Given the description of an element on the screen output the (x, y) to click on. 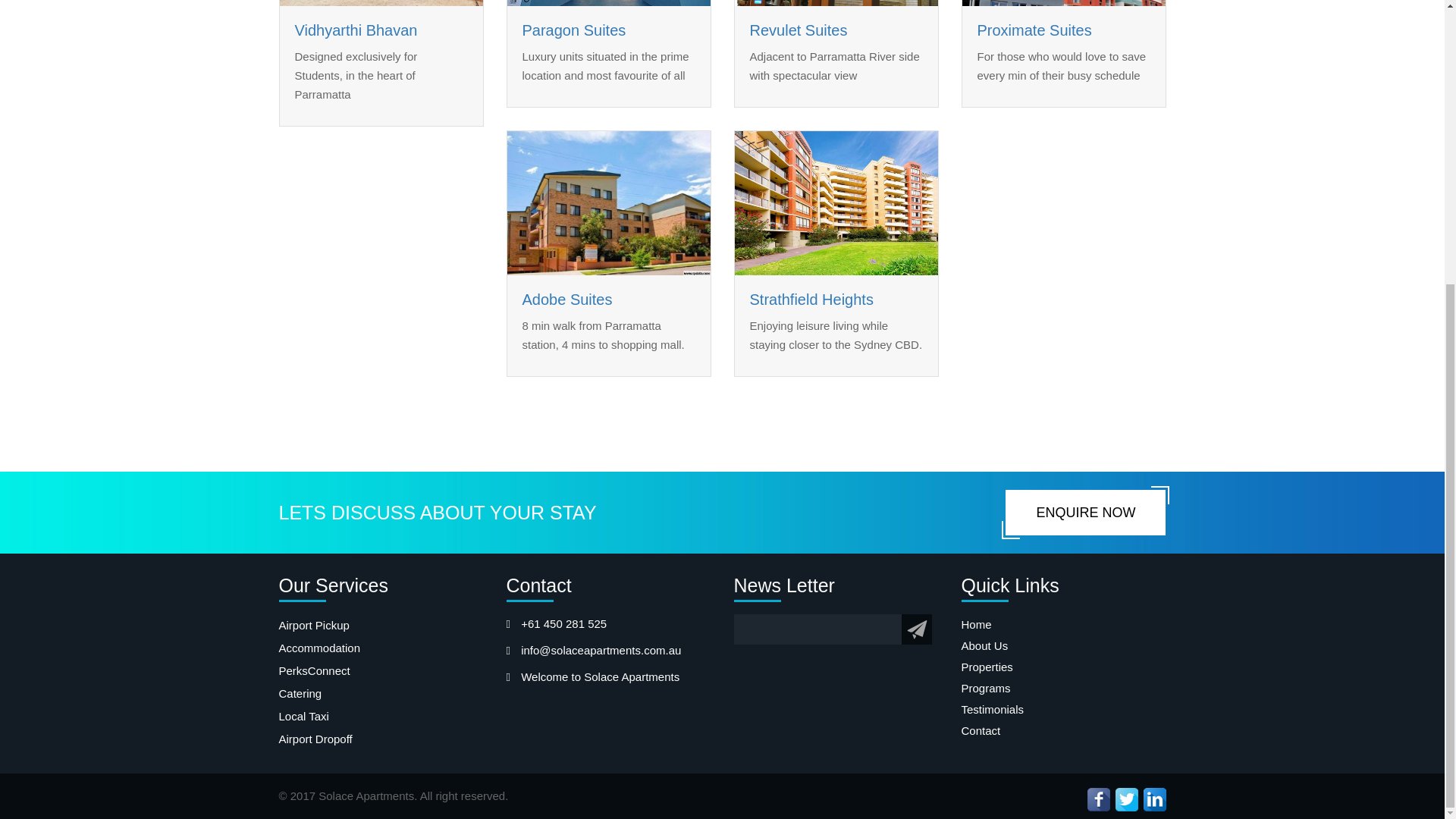
Subscribe (917, 629)
Subscribe (917, 629)
Catering (381, 693)
Vidhyarthi Bhavan (355, 30)
Paragon Suites (573, 30)
Accommodation (381, 648)
Revulet Suites (798, 30)
Proximate Suites (1033, 30)
Airport Pickup (381, 625)
Airport Dropoff (381, 739)
